Given the description of an element on the screen output the (x, y) to click on. 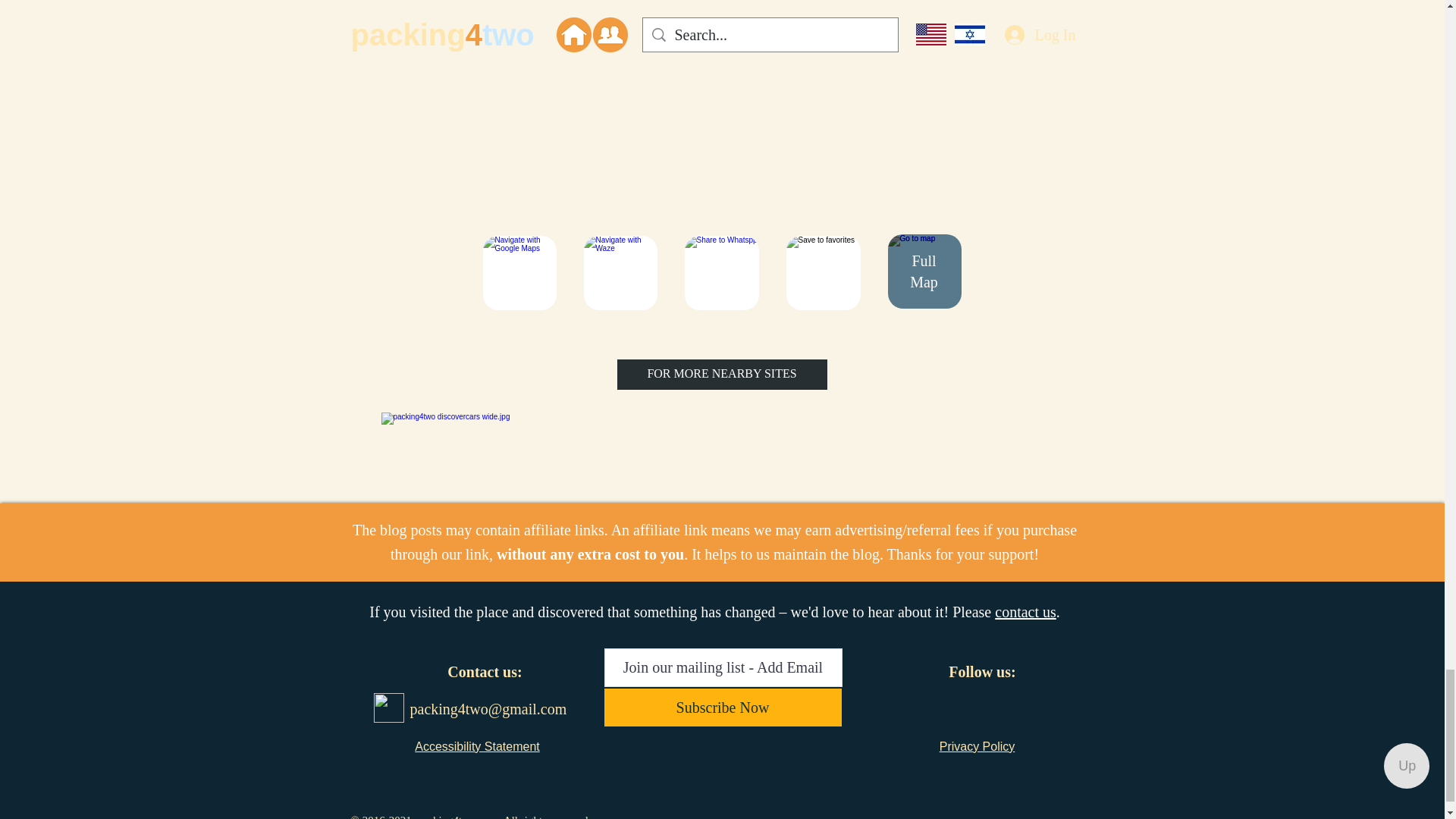
Go to map (923, 271)
contact us (1025, 611)
Navigate with Google Maps (518, 272)
Navigate with Waze (620, 272)
FOR MORE NEARBY SITES (722, 374)
Subscribe Now (722, 707)
Follow us: (981, 671)
Privacy Policy (976, 746)
Save to favorites (823, 272)
Accessibility Statement (477, 746)
Contact us: (483, 671)
Share to Whatspp (721, 272)
